Given the description of an element on the screen output the (x, y) to click on. 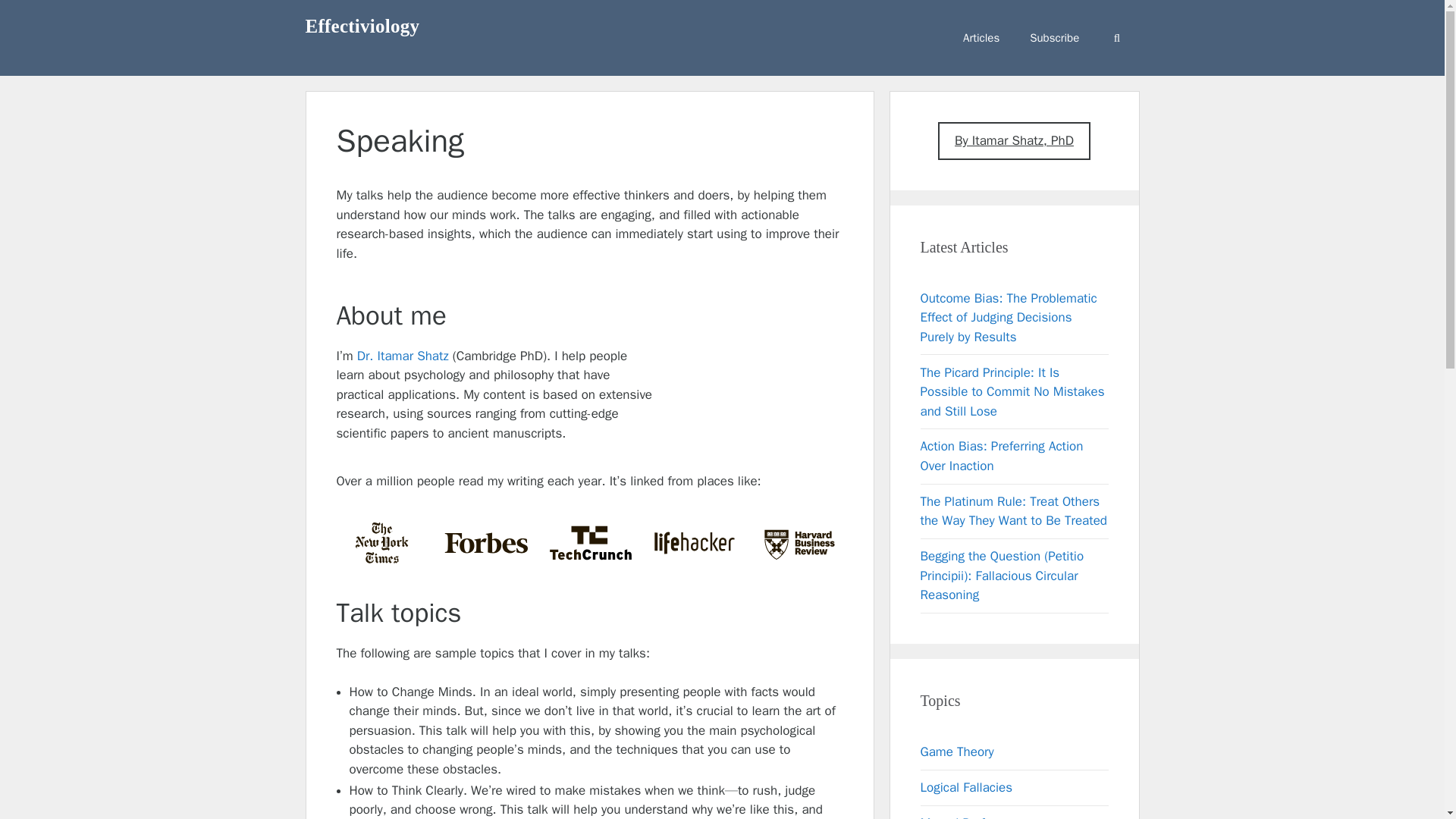
Harvard Business Review (799, 542)
Dr. Itamar Shatz (402, 355)
Mental Performance (976, 816)
Subscribe (1054, 37)
Effectiviology (361, 25)
Articles (980, 37)
Game Theory (957, 751)
TechCrunch (590, 542)
